Given the description of an element on the screen output the (x, y) to click on. 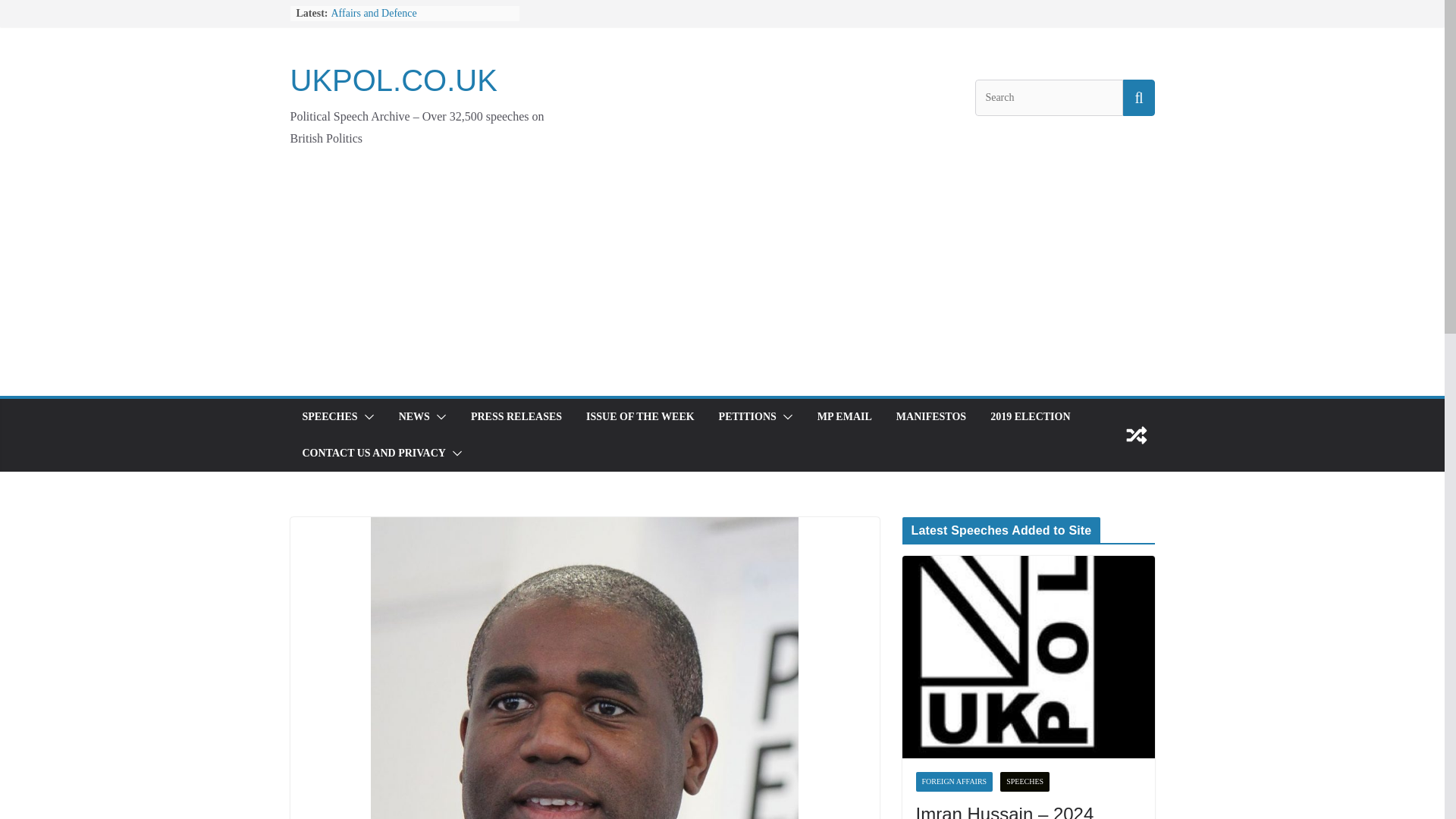
CONTACT US AND PRIVACY (373, 453)
MANIFESTOS (931, 416)
SPEECHES (328, 416)
ISSUE OF THE WEEK (640, 416)
PRESS RELEASES (516, 416)
MP EMAIL (844, 416)
UKPOL.CO.UK (392, 80)
PETITIONS (747, 416)
UKPOL.CO.UK (392, 80)
View a random post (1136, 434)
NEWS (413, 416)
2019 ELECTION (1030, 416)
